Given the description of an element on the screen output the (x, y) to click on. 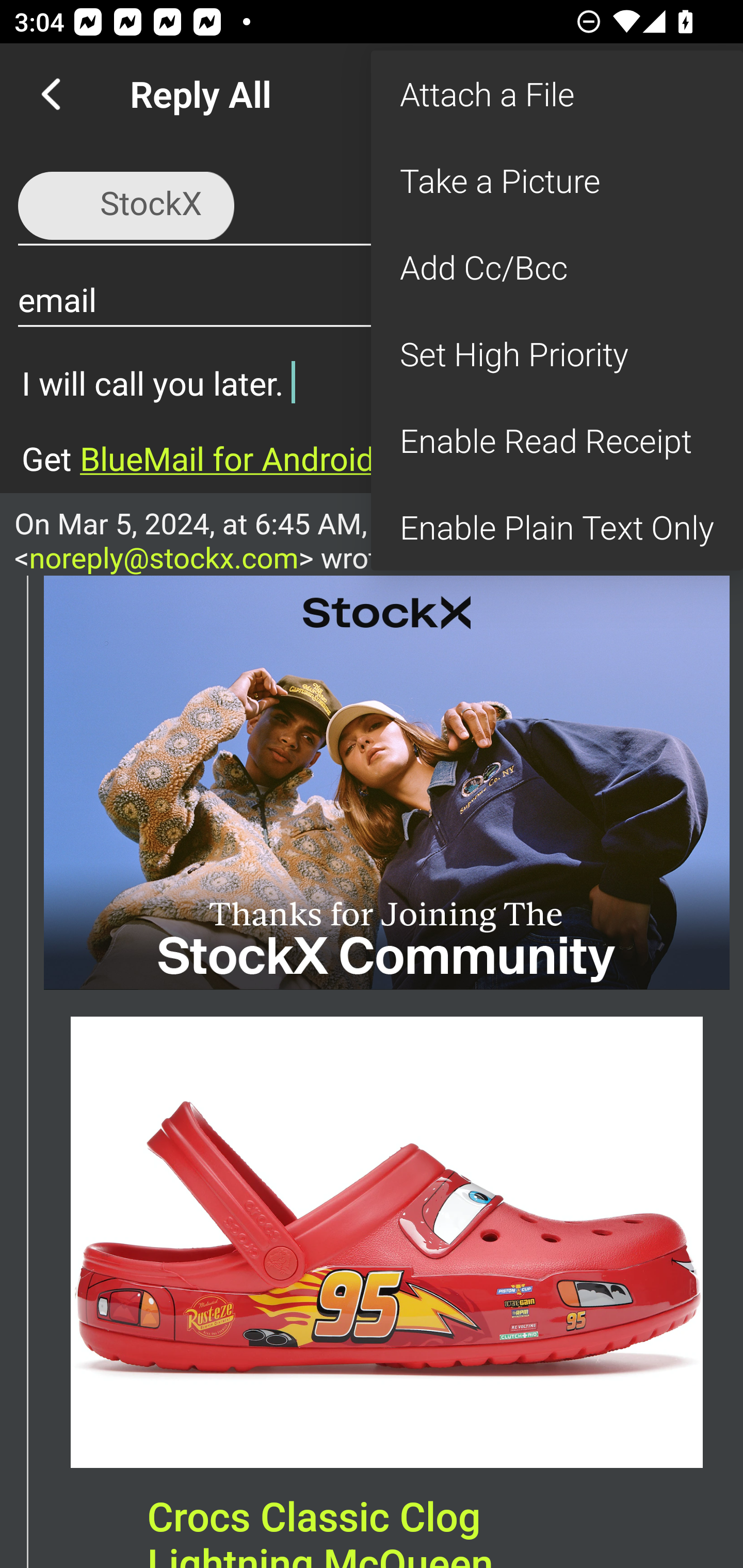
Attach a File (556, 93)
Take a Picture (556, 180)
Add Cc/Bcc (556, 267)
Set High Priority (556, 353)
Enable Read Receipt (556, 440)
Enable Plain Text Only (556, 527)
